Given the description of an element on the screen output the (x, y) to click on. 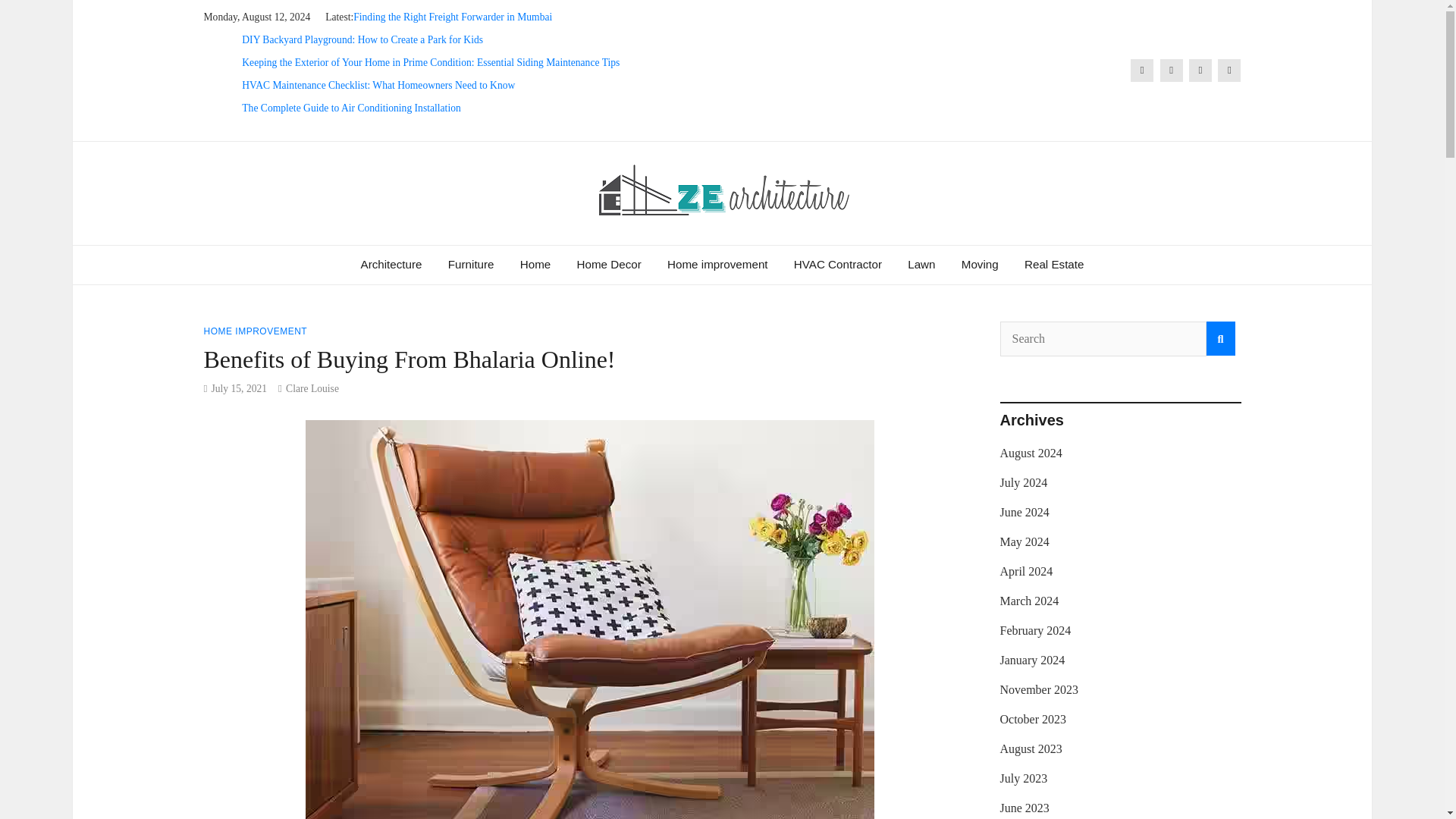
Architecture (390, 264)
Home improvement (717, 264)
The Complete Guide to Air Conditioning Installation (350, 107)
Finding the Right Freight Forwarder in Mumbai (452, 16)
Home Decor (609, 264)
DIY Backyard Playground: How to Create a Park for Kids (362, 39)
ZE Architecture (338, 250)
HVAC Maintenance Checklist: What Homeowners Need to Know (378, 84)
The Complete Guide to Air Conditioning Installation (350, 107)
